Given the description of an element on the screen output the (x, y) to click on. 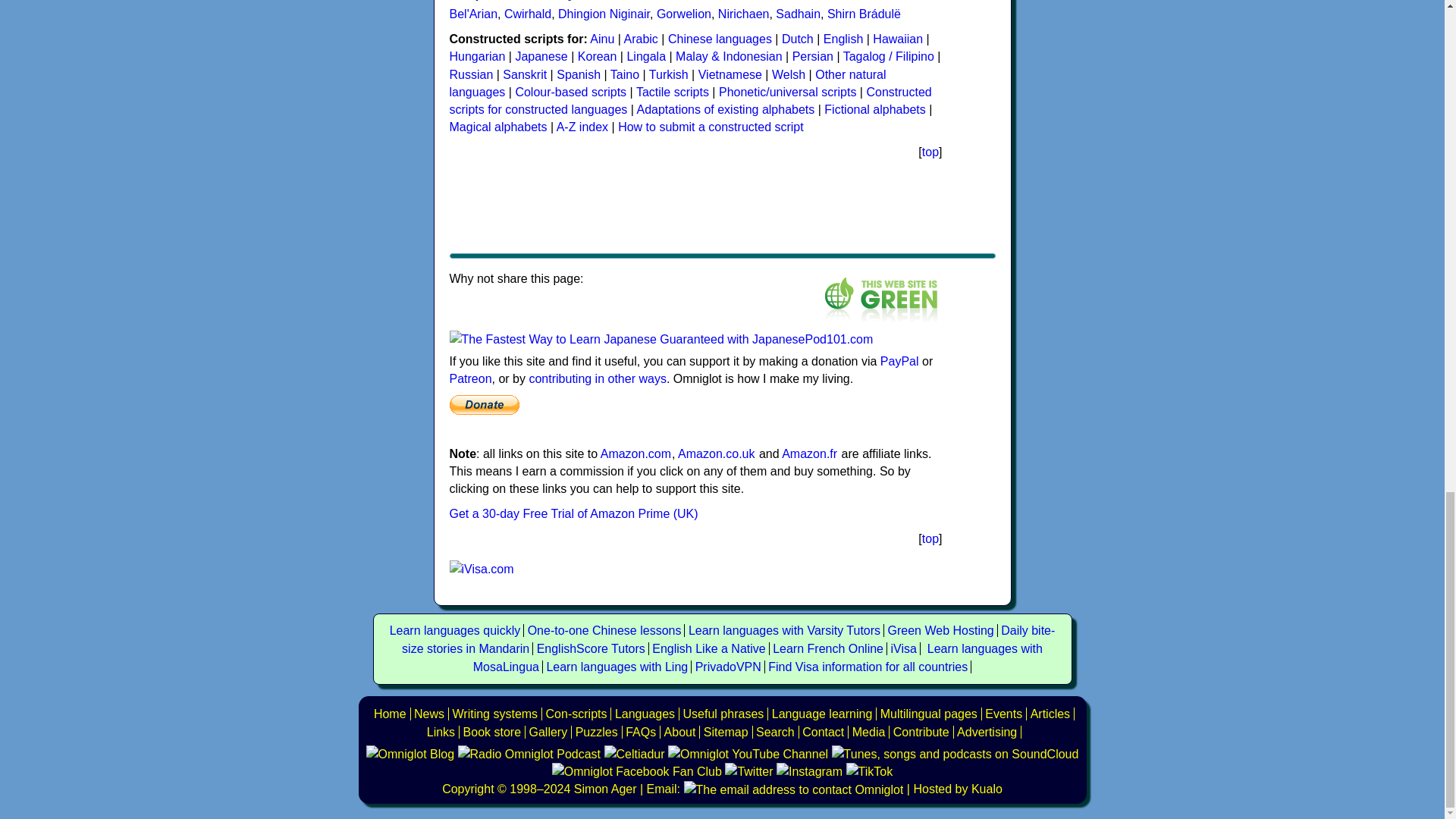
Arabic (641, 38)
Welsh (788, 74)
A guide to the contents of Omniglot (679, 731)
Taino (624, 74)
Frequently Asked Questions (641, 731)
Turkish (668, 74)
Chinese languages (719, 38)
